Given the description of an element on the screen output the (x, y) to click on. 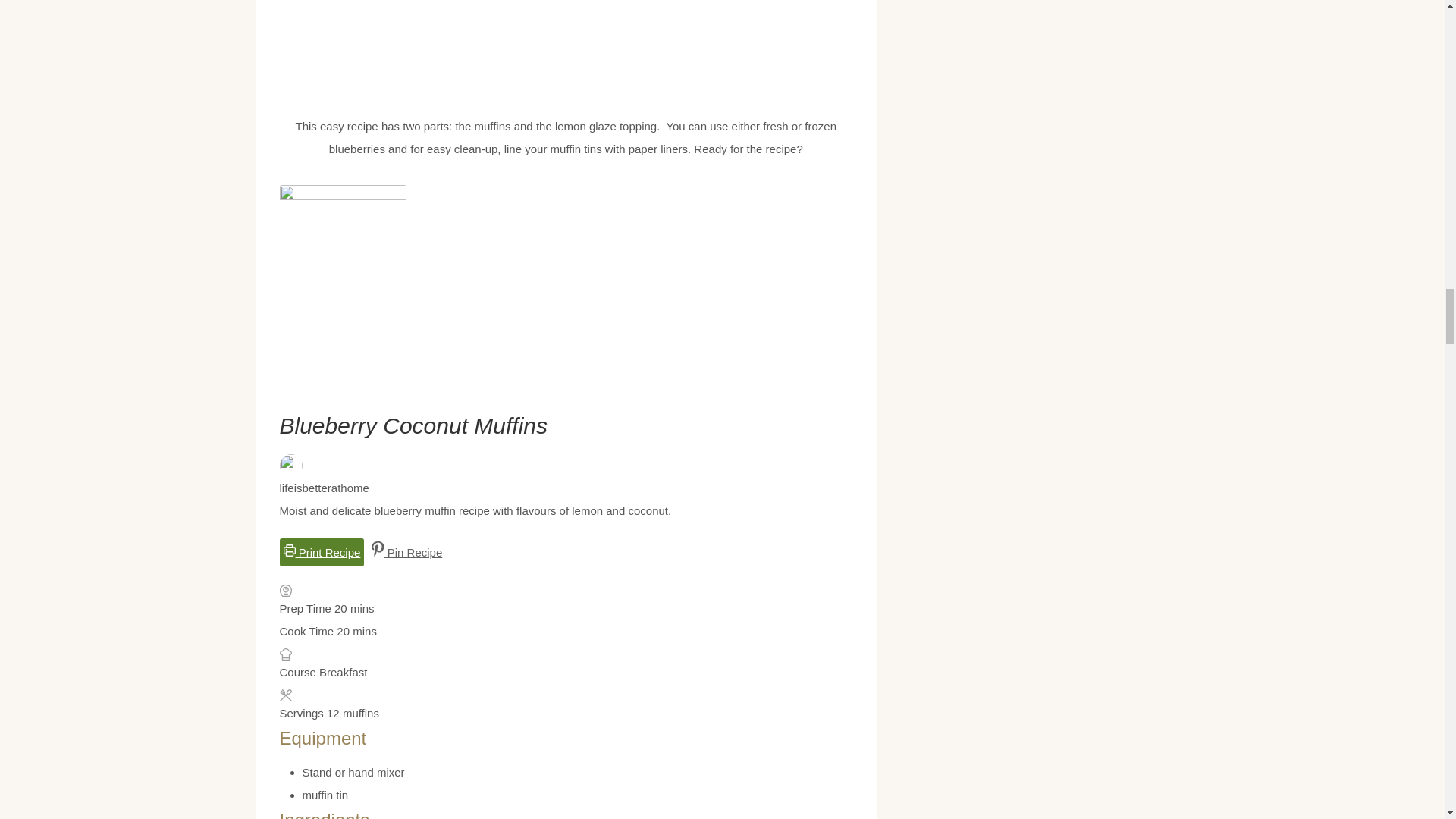
Pin Recipe (407, 552)
Print Recipe (321, 552)
